Given the description of an element on the screen output the (x, y) to click on. 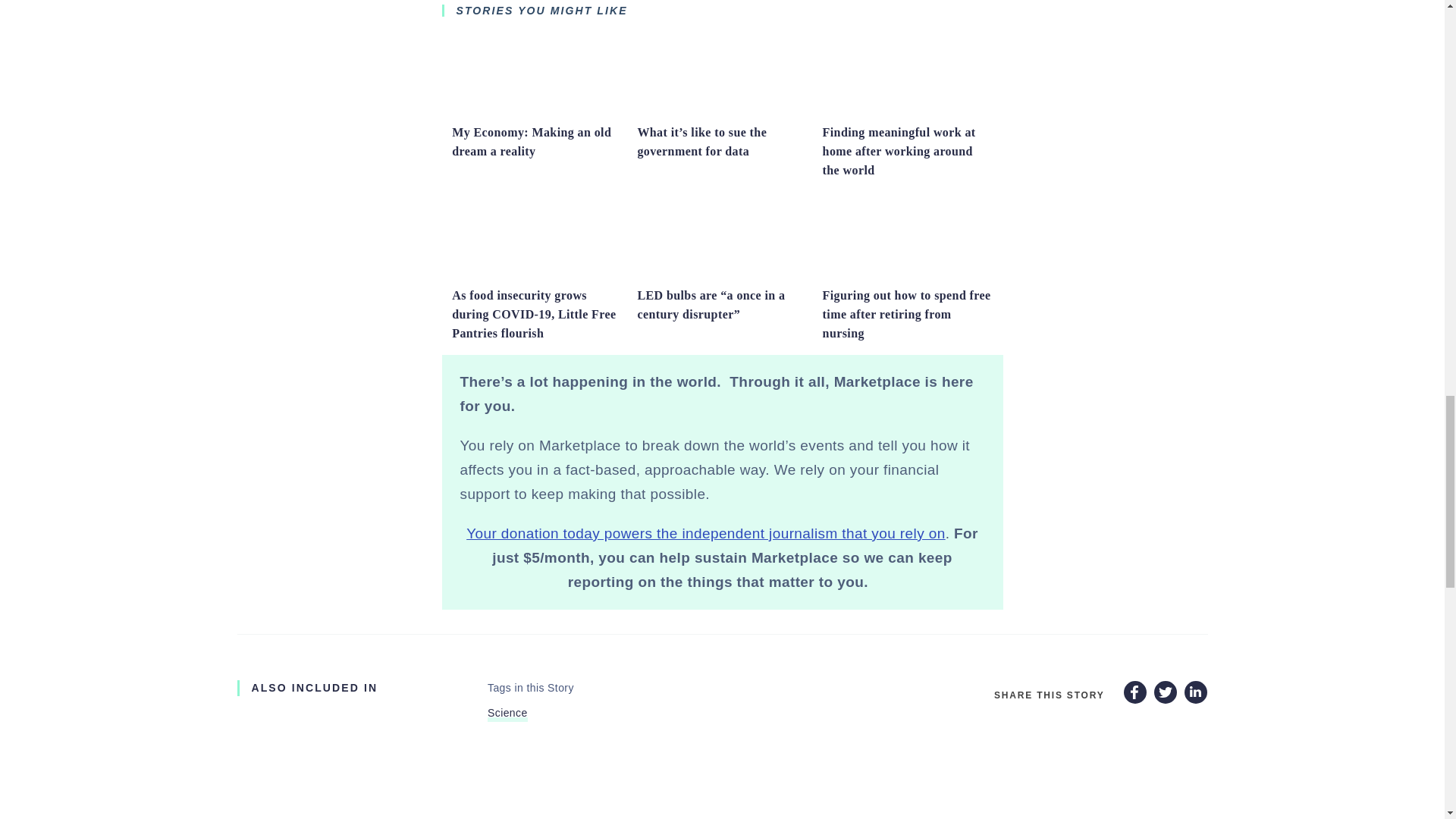
My Economy: Making an old dream a reality (536, 109)
My Economy: Making an old dream a reality (531, 142)
